Given the description of an element on the screen output the (x, y) to click on. 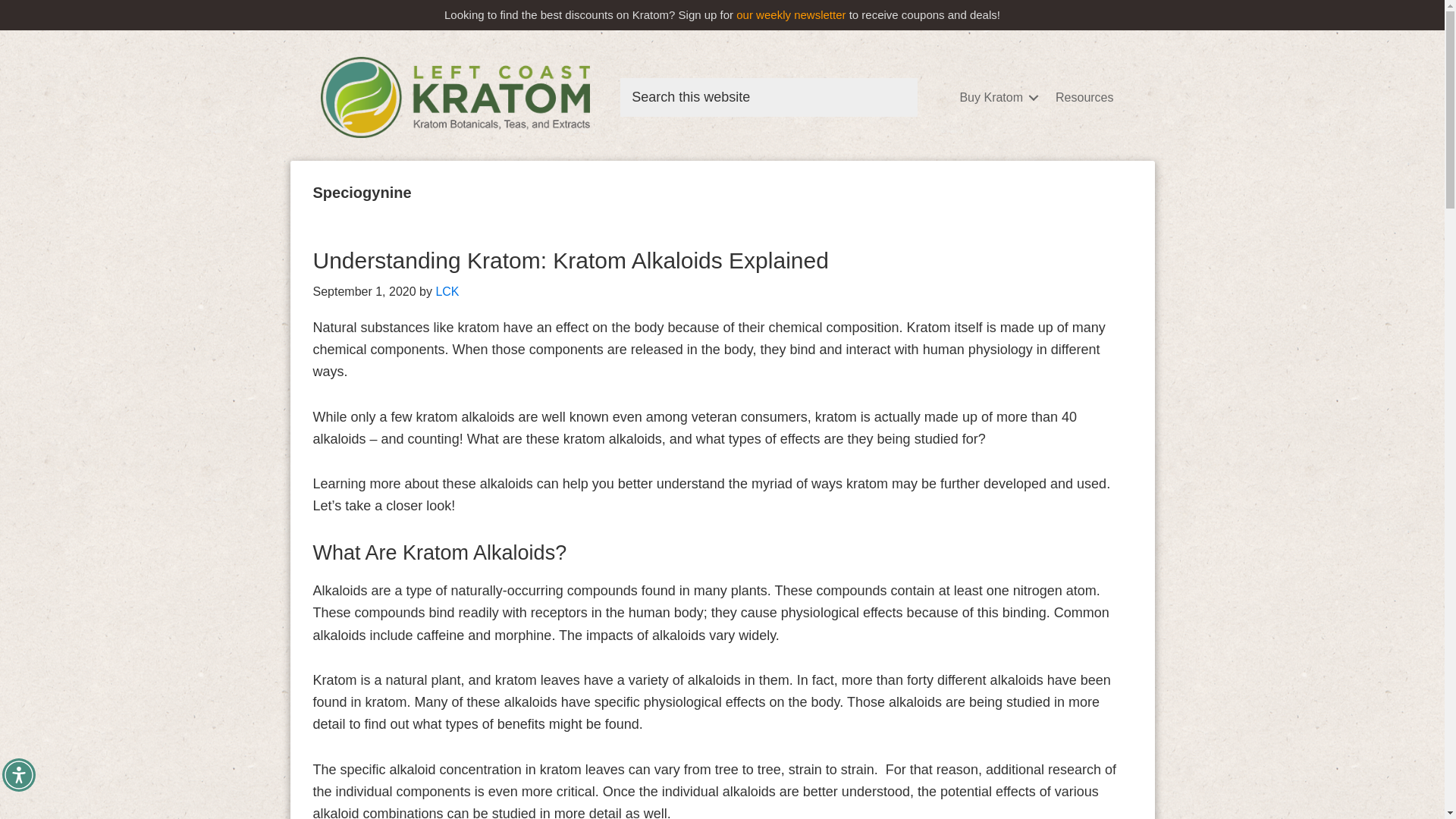
Left Coast Kratom (454, 97)
Accessibility Menu (18, 774)
Resources (1084, 97)
Buy Kratom (996, 97)
LCK (446, 291)
our weekly newsletter (790, 14)
Understanding Kratom: Kratom Alkaloids Explained (570, 260)
